Given the description of an element on the screen output the (x, y) to click on. 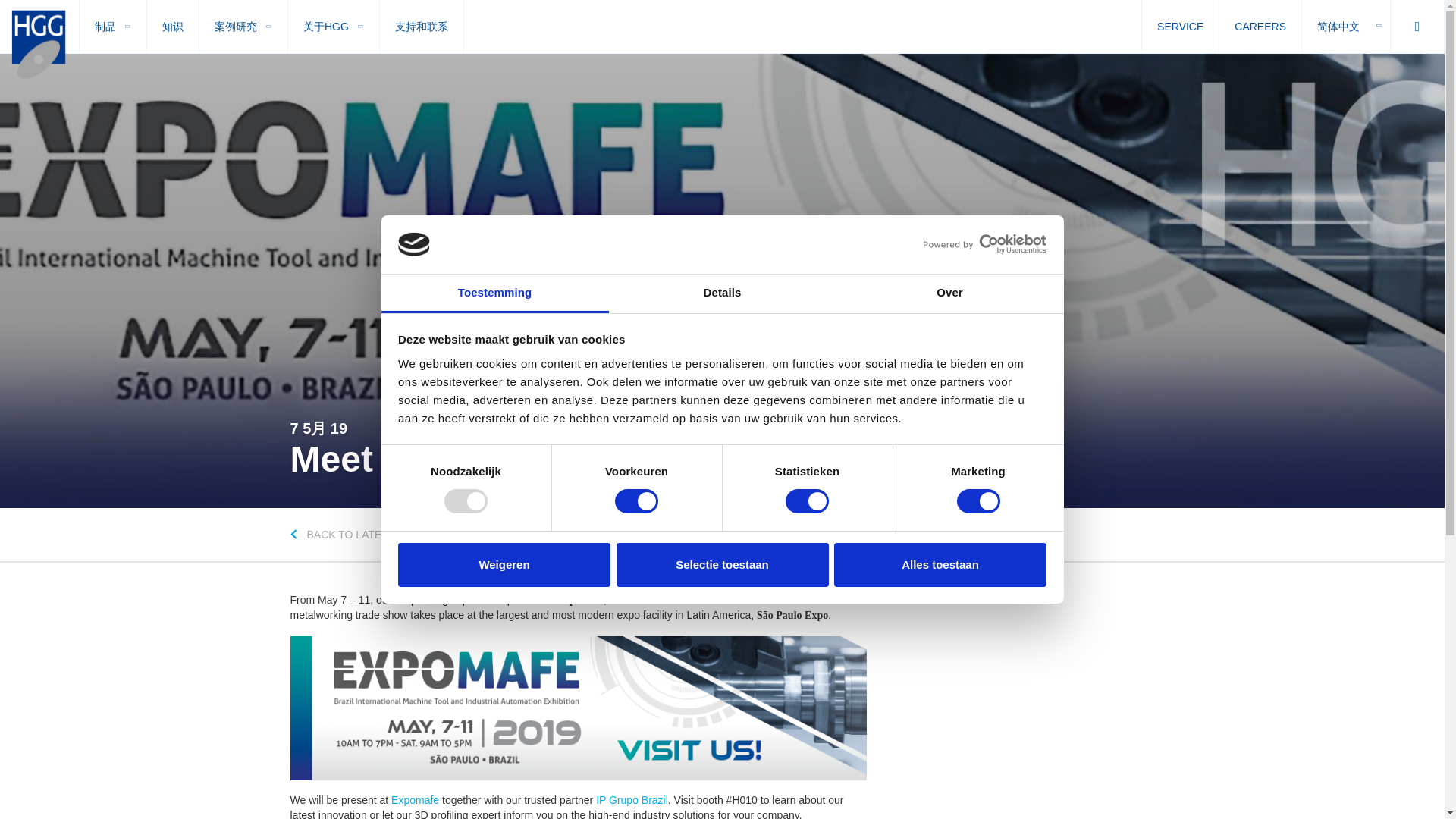
Details (721, 293)
Toestemming (494, 293)
Over (948, 293)
